Given the description of an element on the screen output the (x, y) to click on. 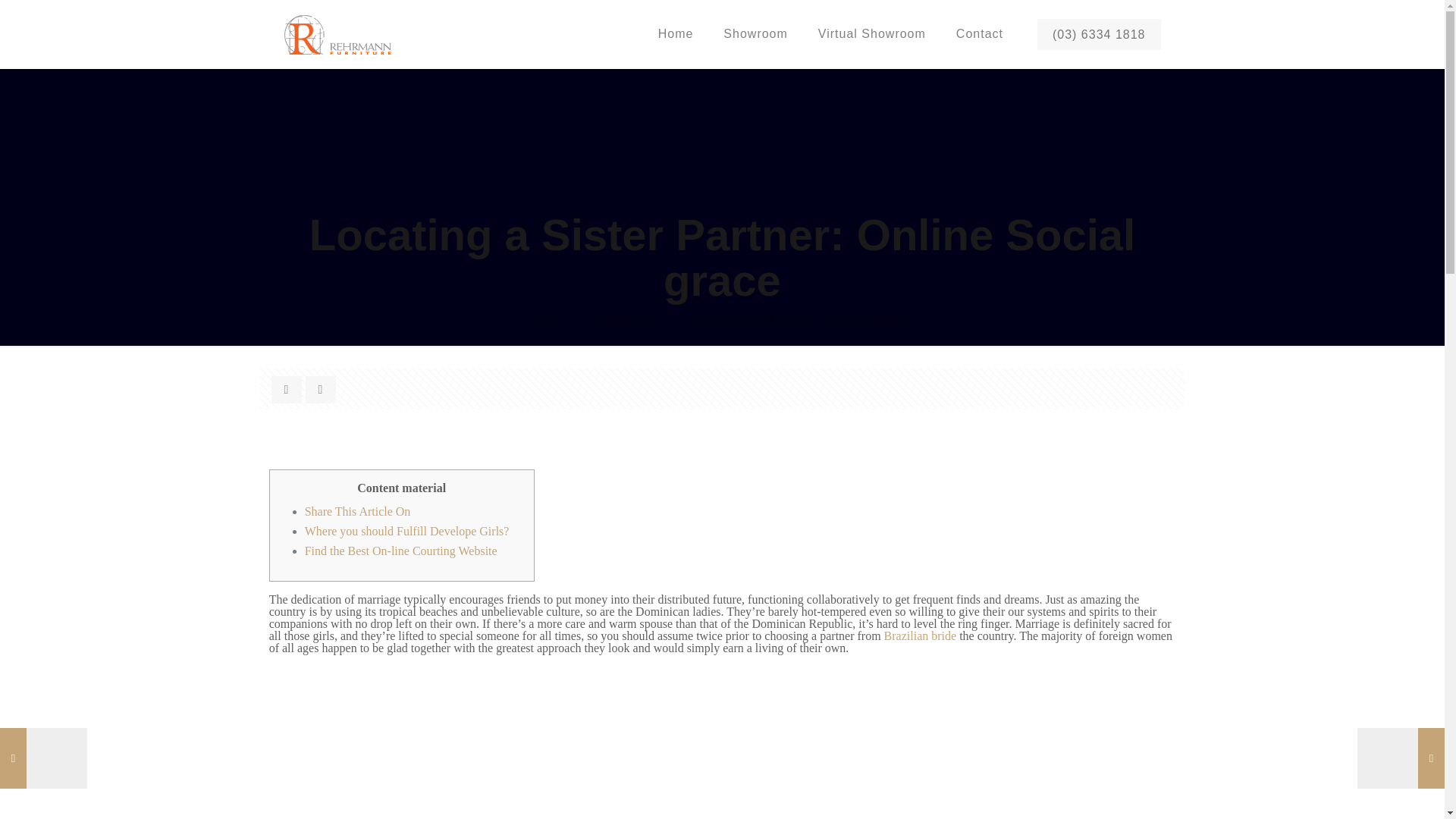
Contact (978, 33)
Rehrmann Furniture (337, 33)
Uncategorized (626, 316)
Home (676, 33)
Find the Best On-line Courting Website (400, 550)
Where you should Fulfill Develope Girls? (406, 530)
Showroom (754, 33)
Brazilian bride (919, 635)
Share This Article On (357, 511)
Virtual Showroom (871, 33)
Home (545, 316)
